Given the description of an element on the screen output the (x, y) to click on. 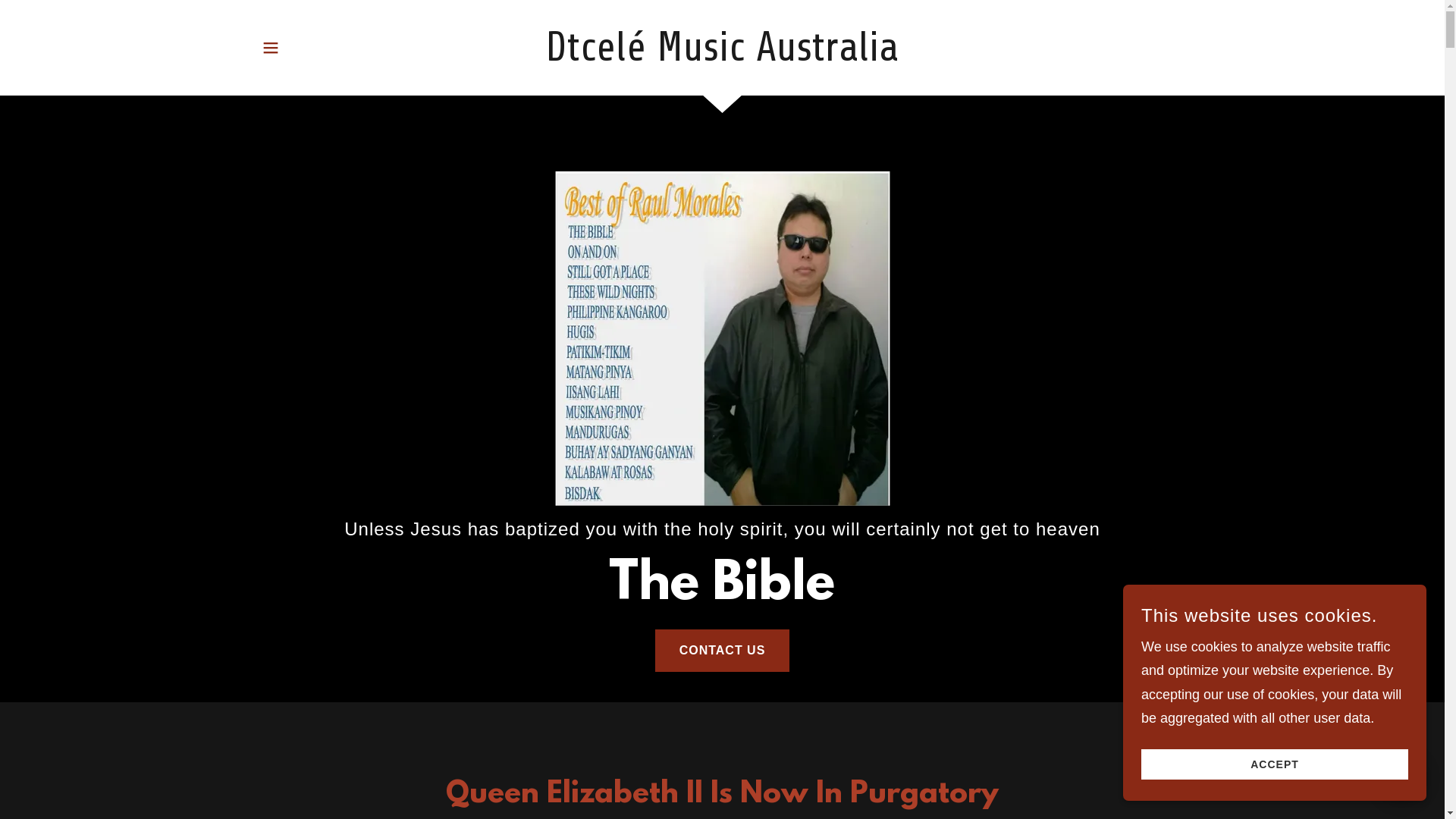
ACCEPT Element type: text (1274, 764)
CONTACT US Element type: text (722, 650)
